Given the description of an element on the screen output the (x, y) to click on. 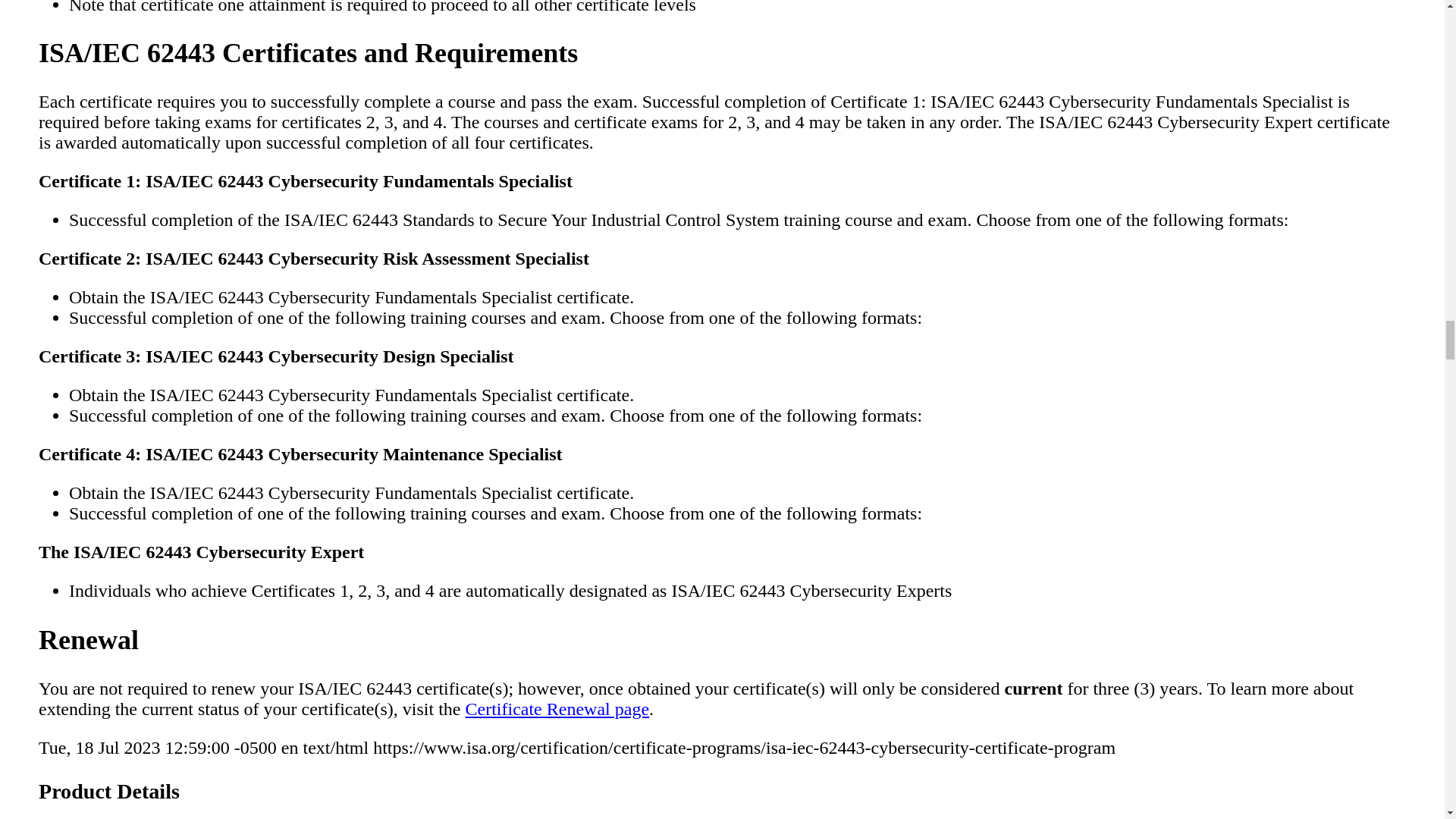
Certificate Renewal page (556, 709)
